Given the description of an element on the screen output the (x, y) to click on. 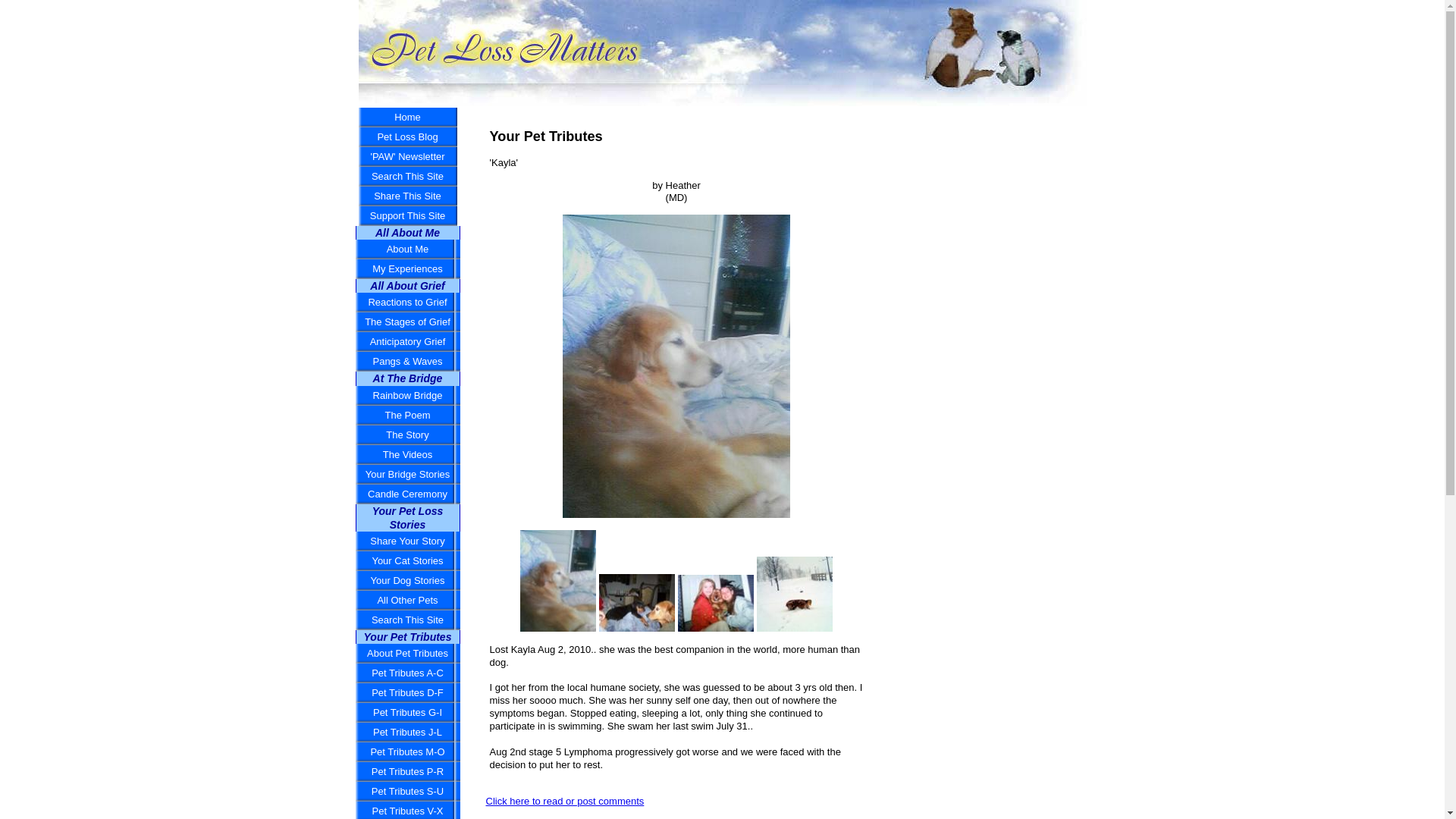
Your Cat Stories (407, 560)
Reactions to Grief (407, 302)
Pet Tributes A-C (407, 673)
Anticipatory Grief (407, 342)
Kayla's bff (636, 602)
Click here to read or post comments (563, 800)
Pet Tributes V-X (407, 810)
Pet Tributes J-L (407, 732)
Pet Tributes S-U (407, 791)
